Given the description of an element on the screen output the (x, y) to click on. 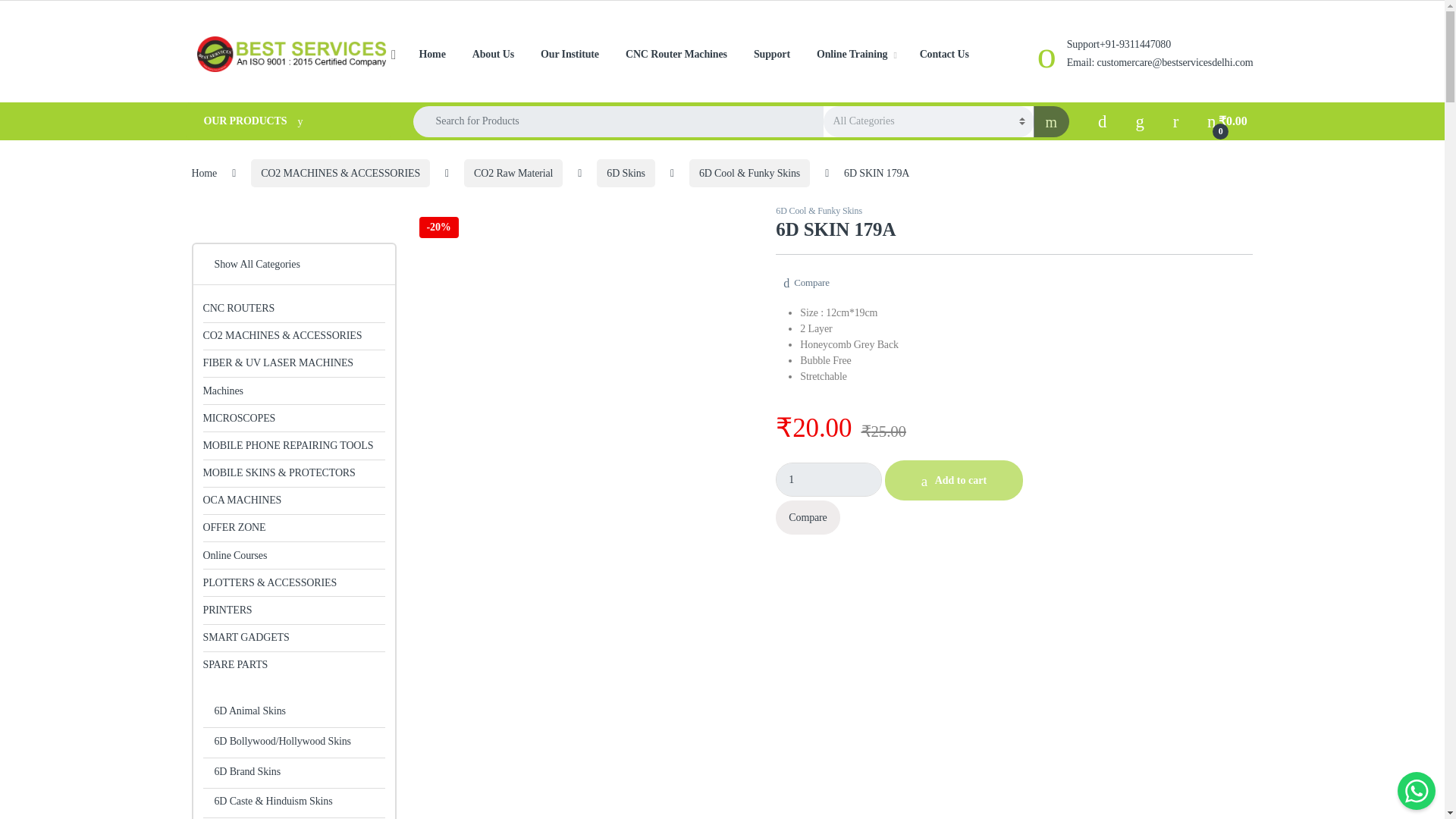
1 (829, 479)
